Given the description of an element on the screen output the (x, y) to click on. 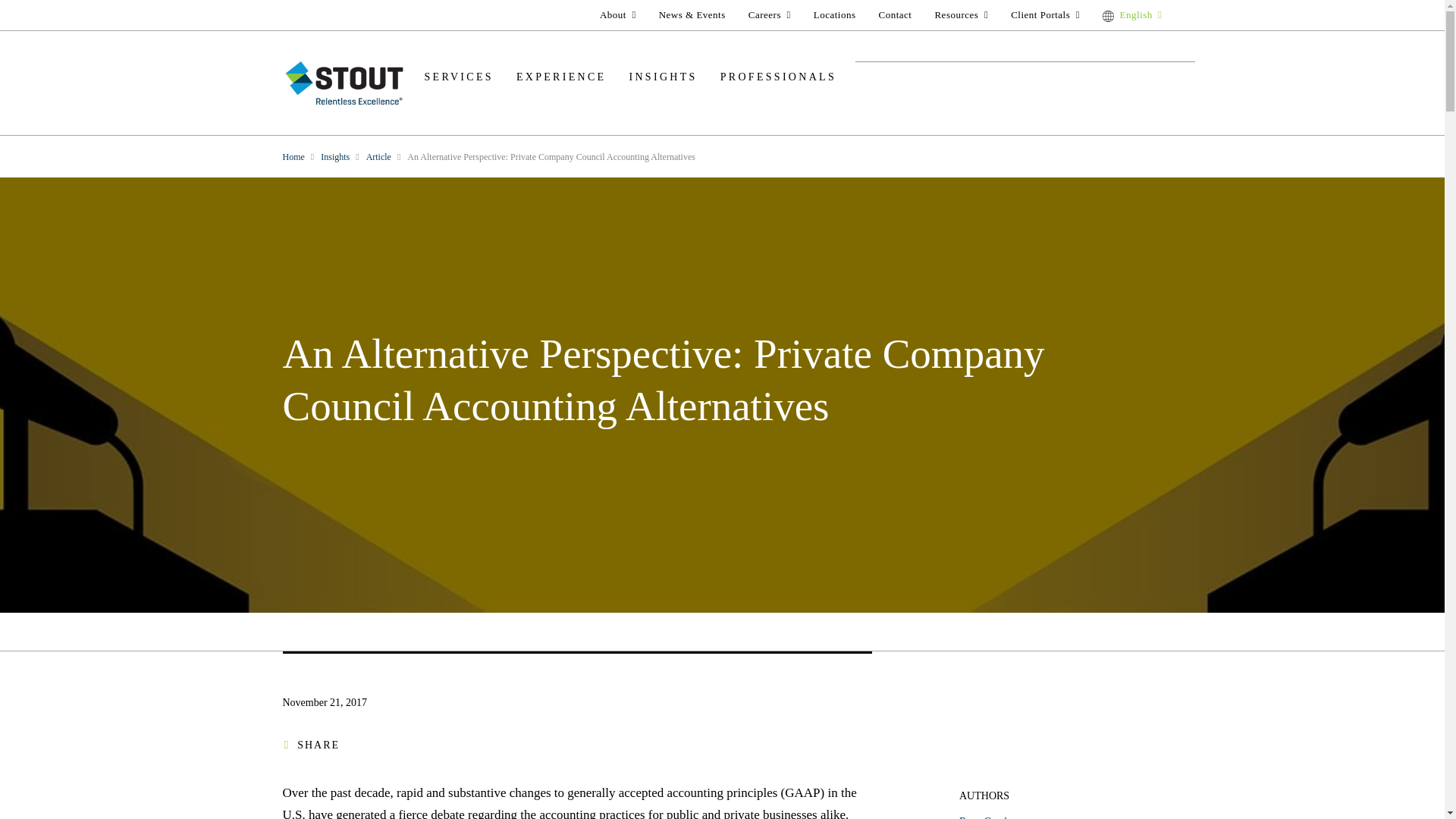
Client Portals   (1044, 14)
Resources   (960, 14)
  English   (1131, 14)
Contact (895, 14)
Careers   (769, 14)
About   (617, 14)
Locations (834, 14)
Locations (834, 14)
Contact (895, 14)
